Given the description of an element on the screen output the (x, y) to click on. 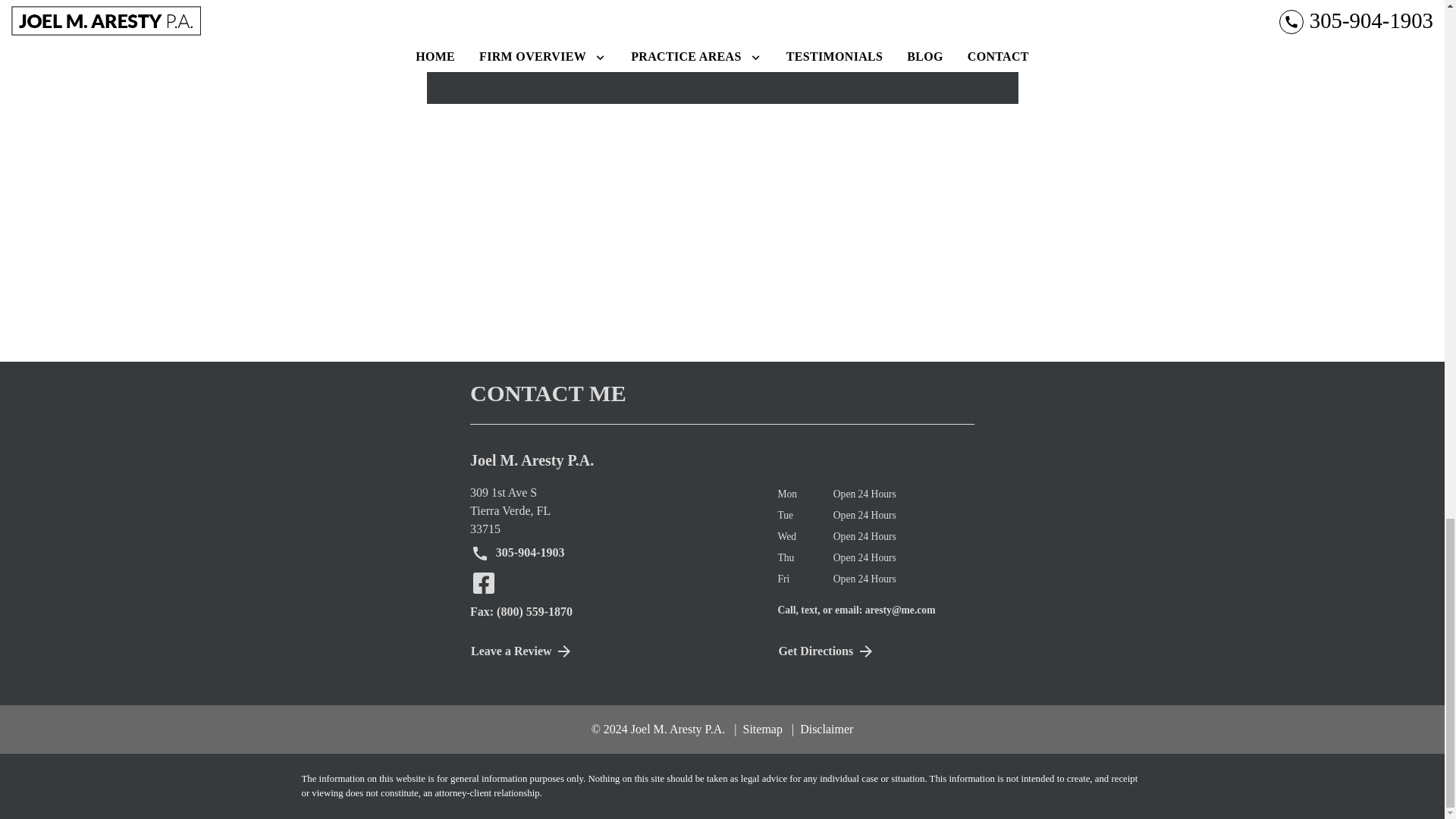
link to call attorney 305-904-1903 (612, 511)
305-904-1903 (517, 553)
SUBMIT (517, 553)
